Given the description of an element on the screen output the (x, y) to click on. 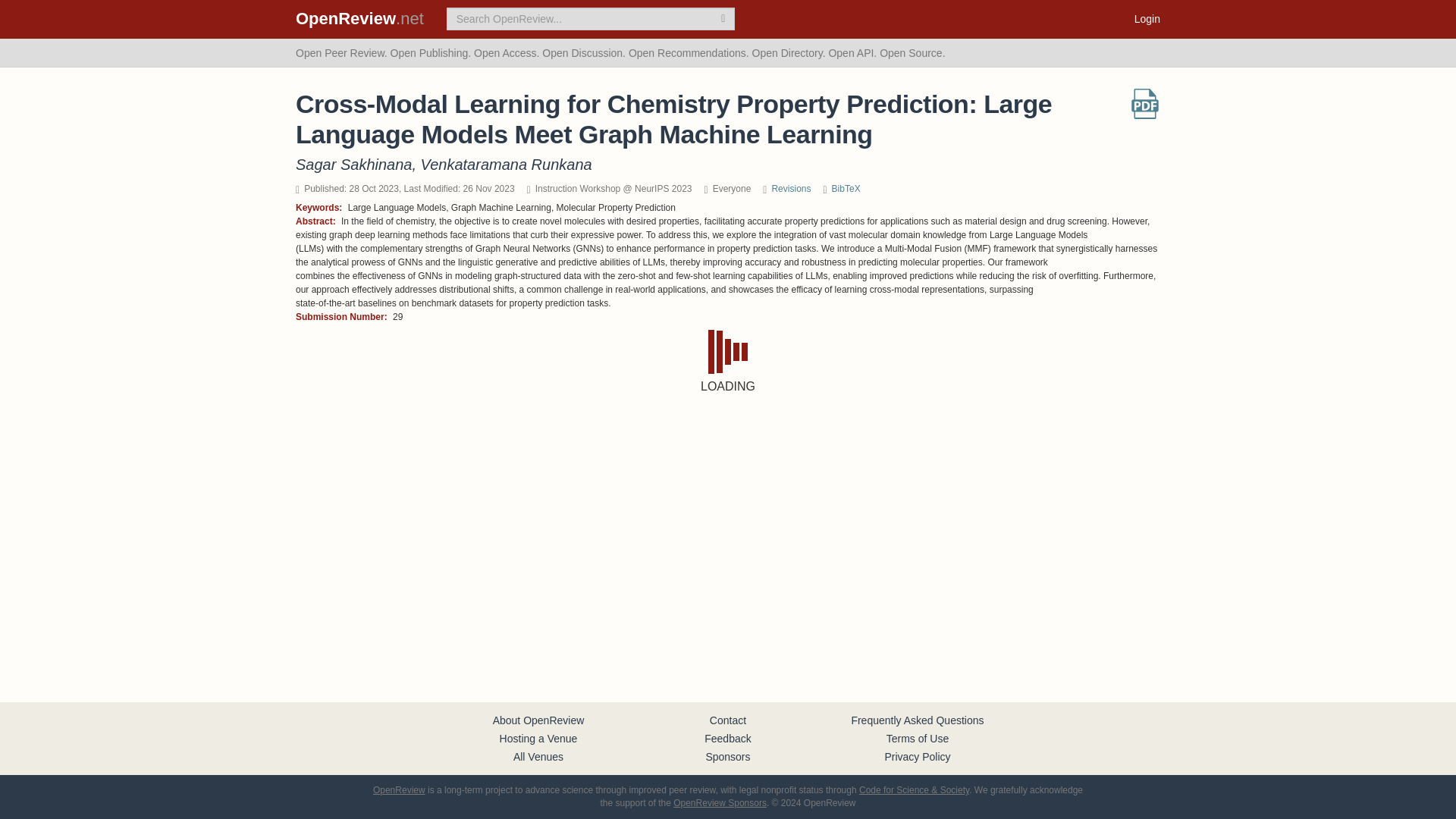
BibTeX (845, 188)
Hosting a Venue (538, 738)
Venkataramana Runkana (506, 164)
About OpenReview (539, 720)
Sponsors (726, 756)
OpenReview (398, 789)
All Venues (538, 756)
Contact (727, 720)
OpenReview.net (359, 18)
Feedback (727, 738)
Frequently Asked Questions (917, 720)
Terms of Use (917, 738)
Download PDF (1144, 103)
OpenReview Sponsors (719, 802)
Privacy Policy (916, 756)
